Given the description of an element on the screen output the (x, y) to click on. 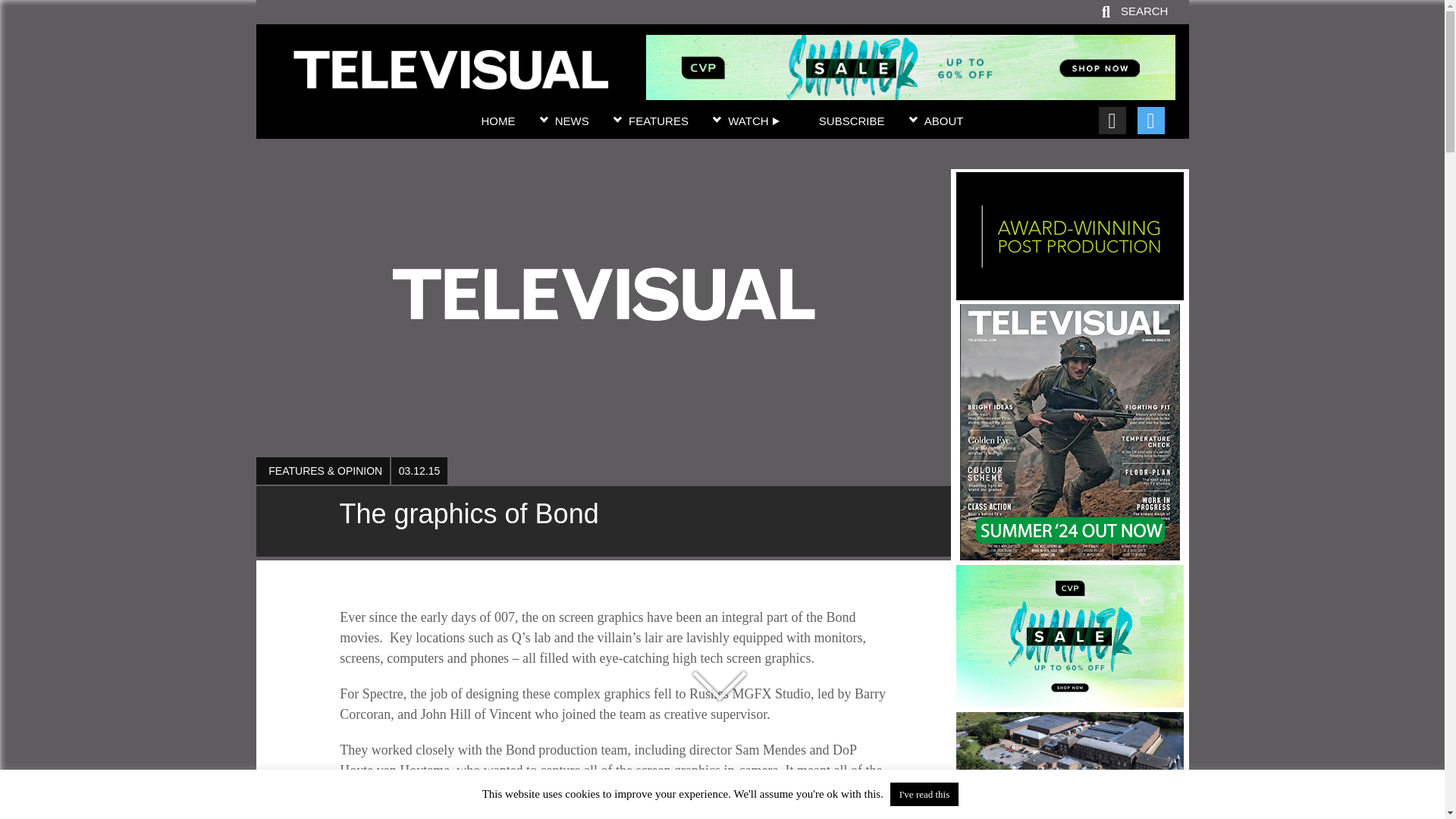
03.12.15 (418, 470)
NEWS (571, 121)
The graphics of Bond (603, 521)
SUBSCRIBE (851, 121)
The graphics of Bond (451, 80)
HOME (497, 121)
ABOUT (943, 121)
WATCH (753, 121)
FEATURES (658, 121)
